Given the description of an element on the screen output the (x, y) to click on. 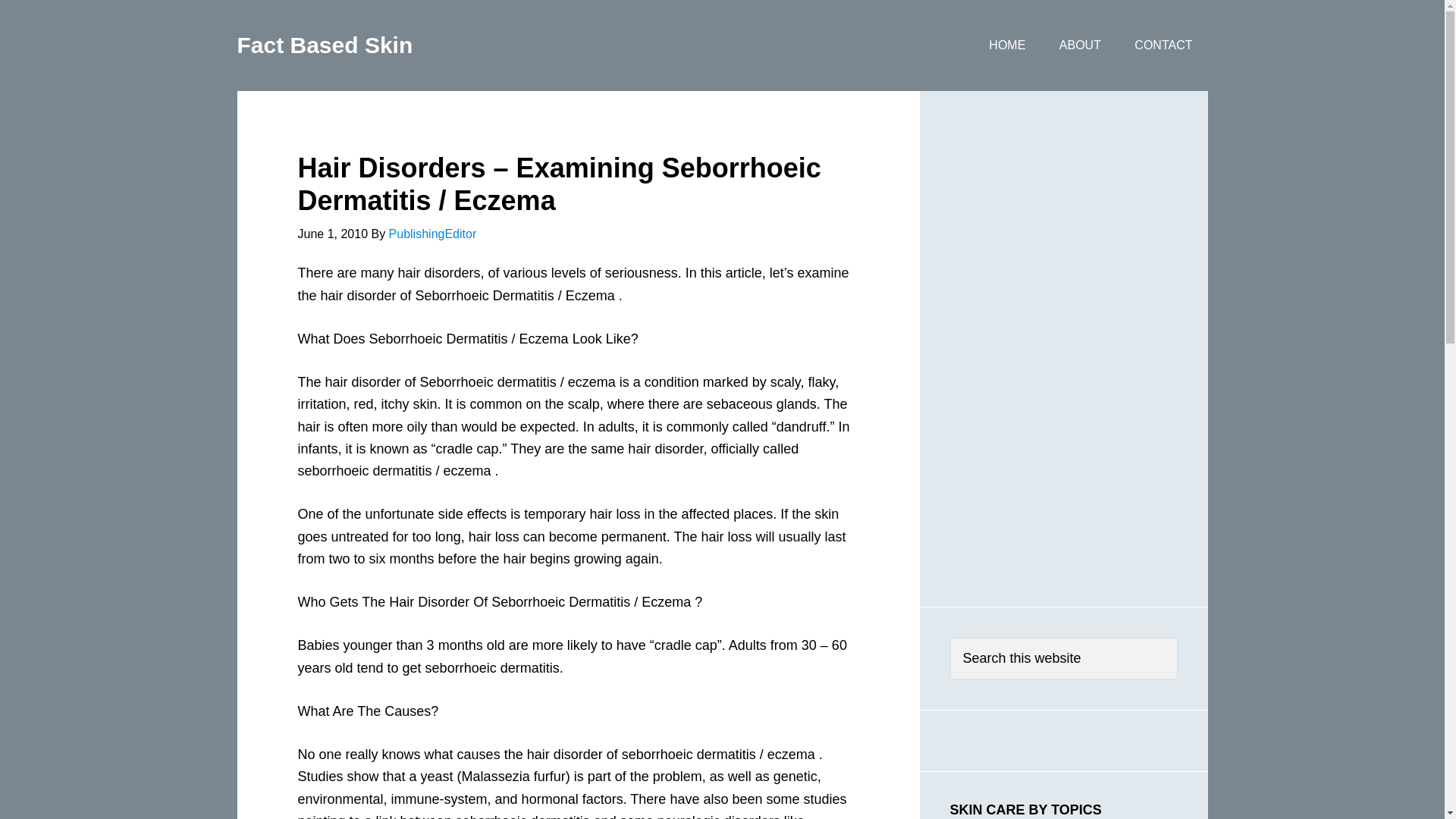
Fact Based Skin (323, 44)
CONTACT (1163, 45)
PublishingEditor (432, 233)
